Given the description of an element on the screen output the (x, y) to click on. 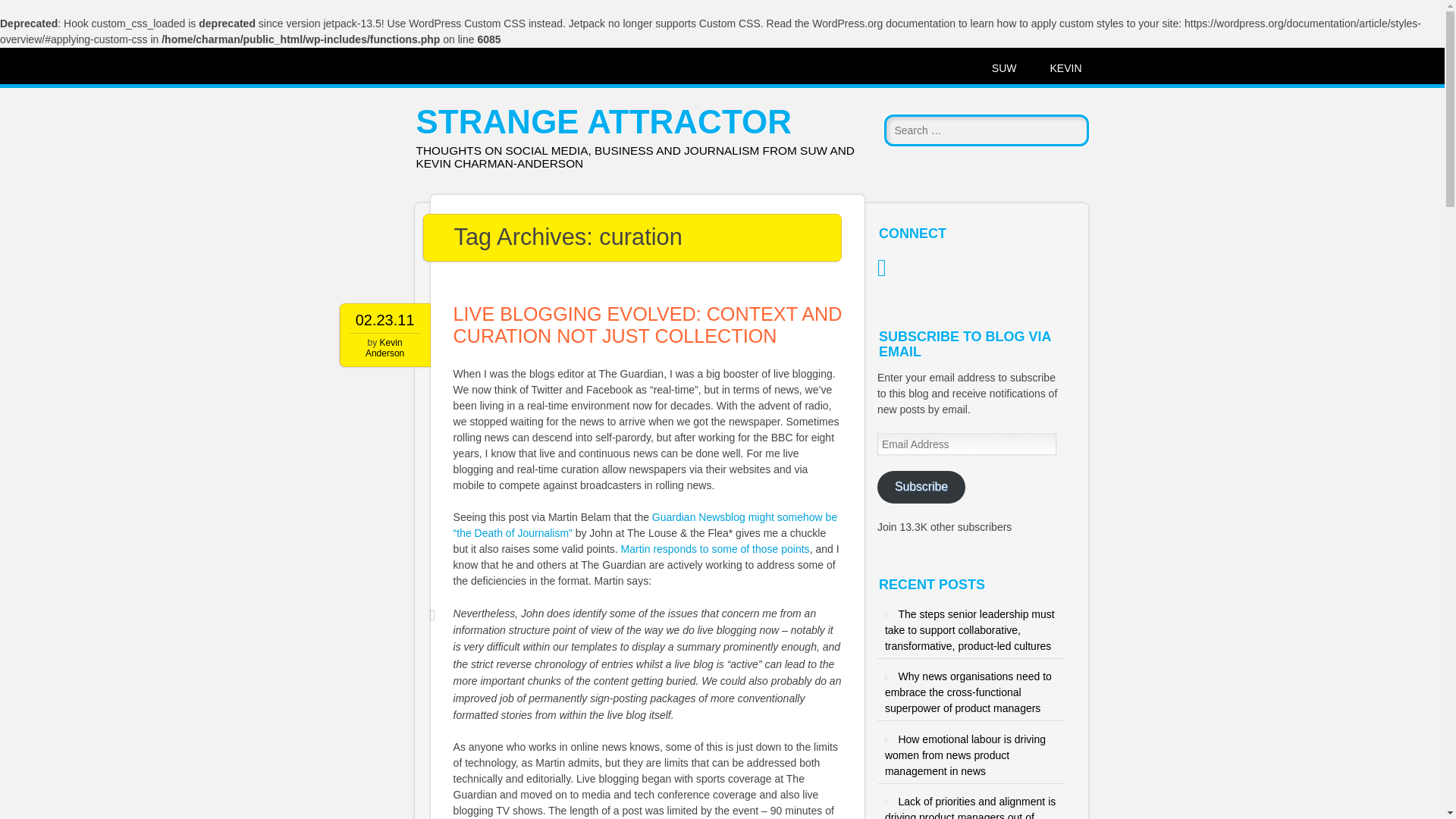
Kevin Anderson (384, 347)
Search (28, 13)
SKIP TO CONTENT (388, 68)
02.23.11 (384, 320)
View all posts by Kevin Anderson (384, 347)
Strange Attractor (604, 121)
STRANGE ATTRACTOR (604, 121)
Twitter (889, 267)
Skip to content (388, 68)
